Given the description of an element on the screen output the (x, y) to click on. 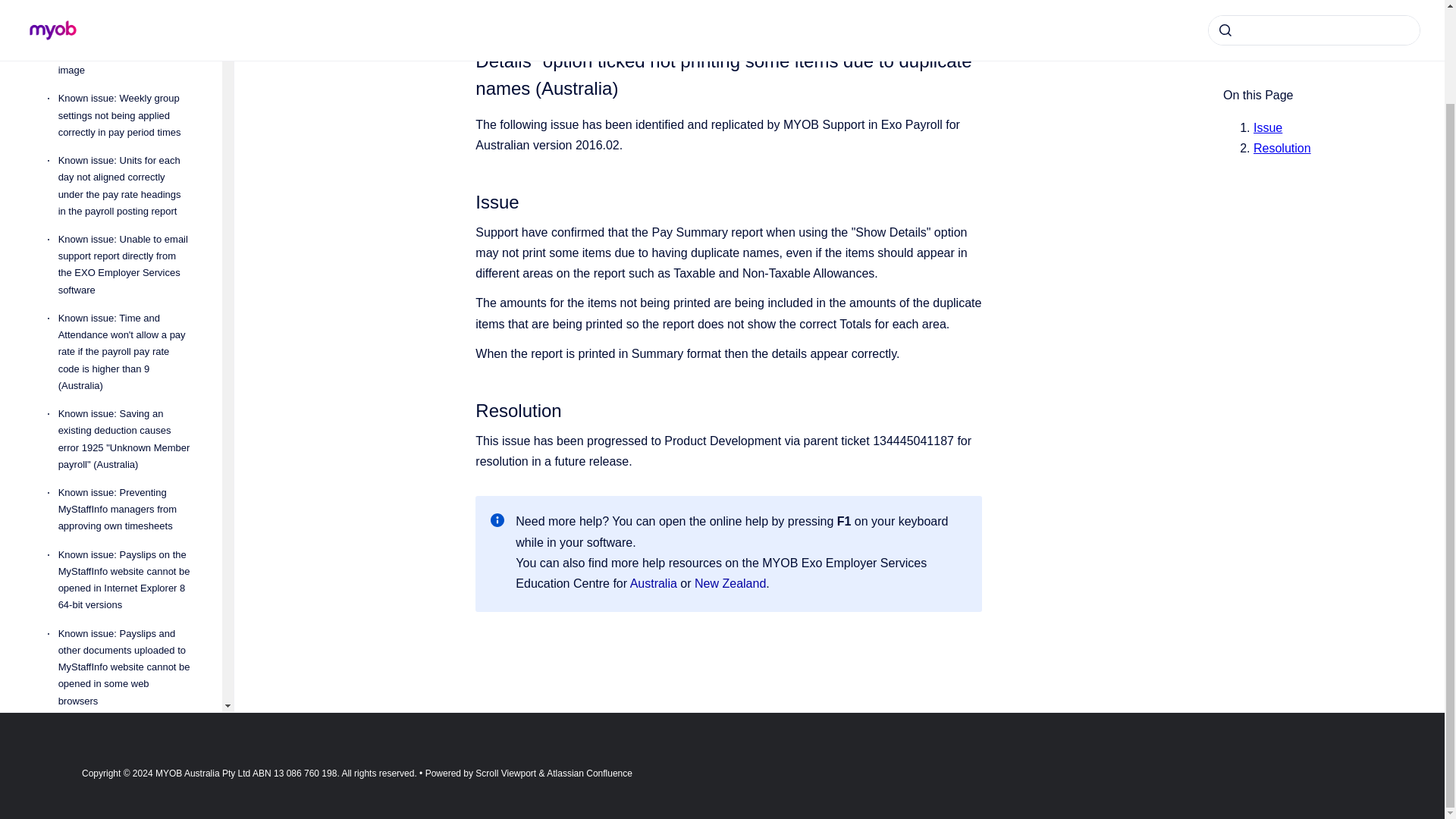
Known issues (122, 2)
